Given the description of an element on the screen output the (x, y) to click on. 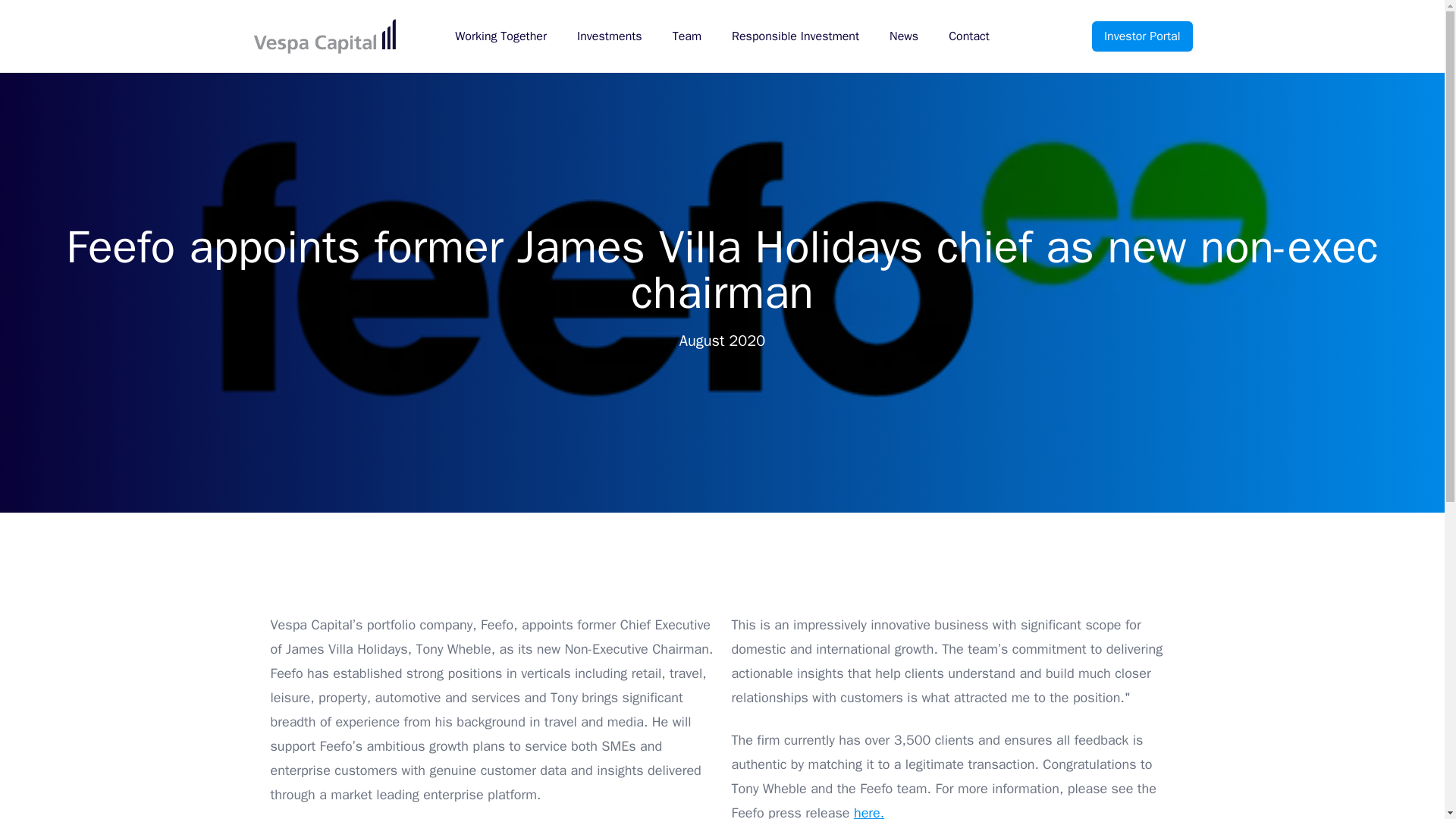
Contact (969, 36)
Team (686, 36)
Investor Portal (1142, 36)
News (903, 36)
Vespa Capital (323, 36)
News (903, 36)
Investments (609, 36)
Working Together (500, 36)
Responsible Investment (795, 36)
Investor Portal (1142, 36)
